Given the description of an element on the screen output the (x, y) to click on. 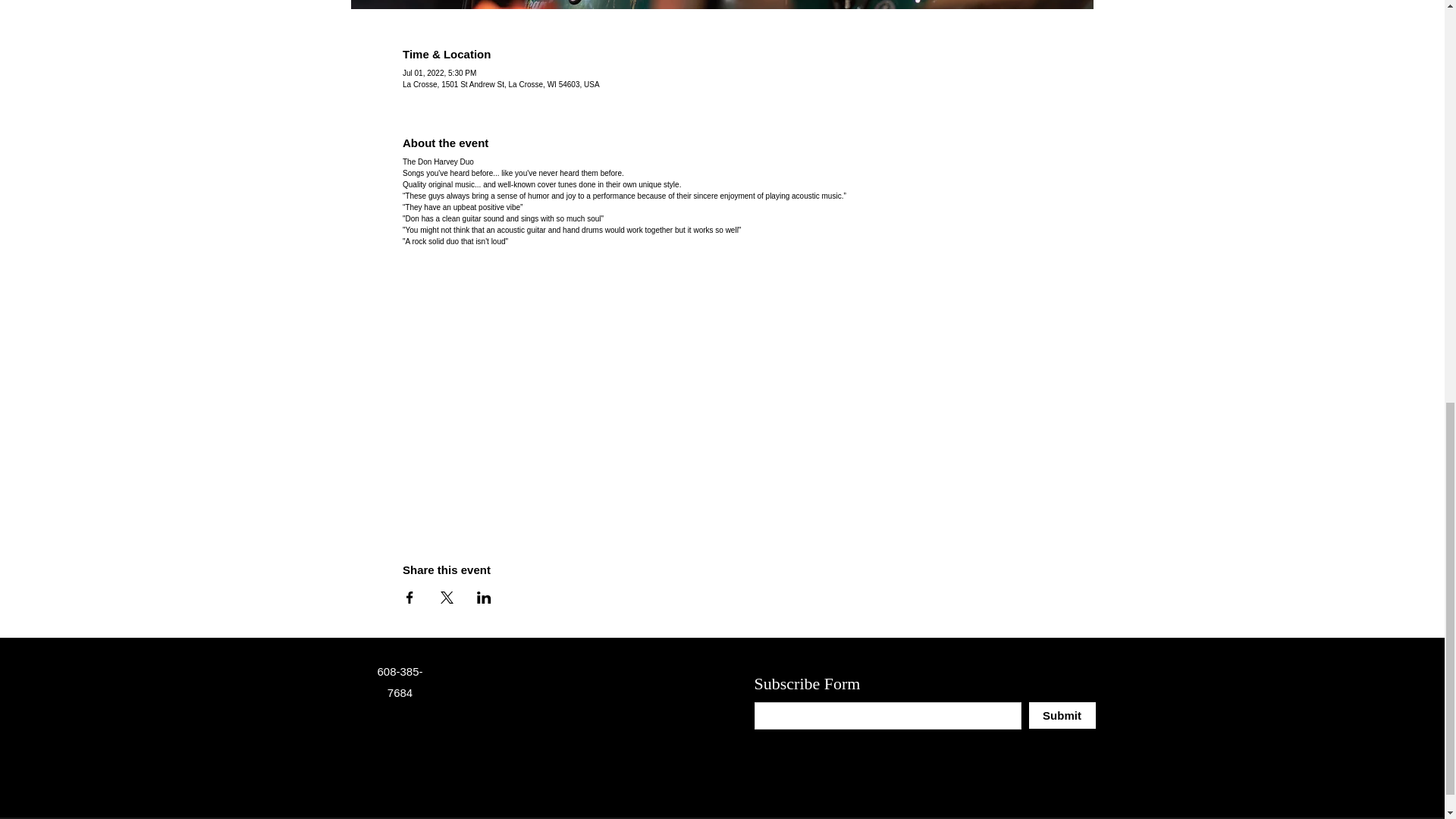
Submit (1060, 714)
